Given the description of an element on the screen output the (x, y) to click on. 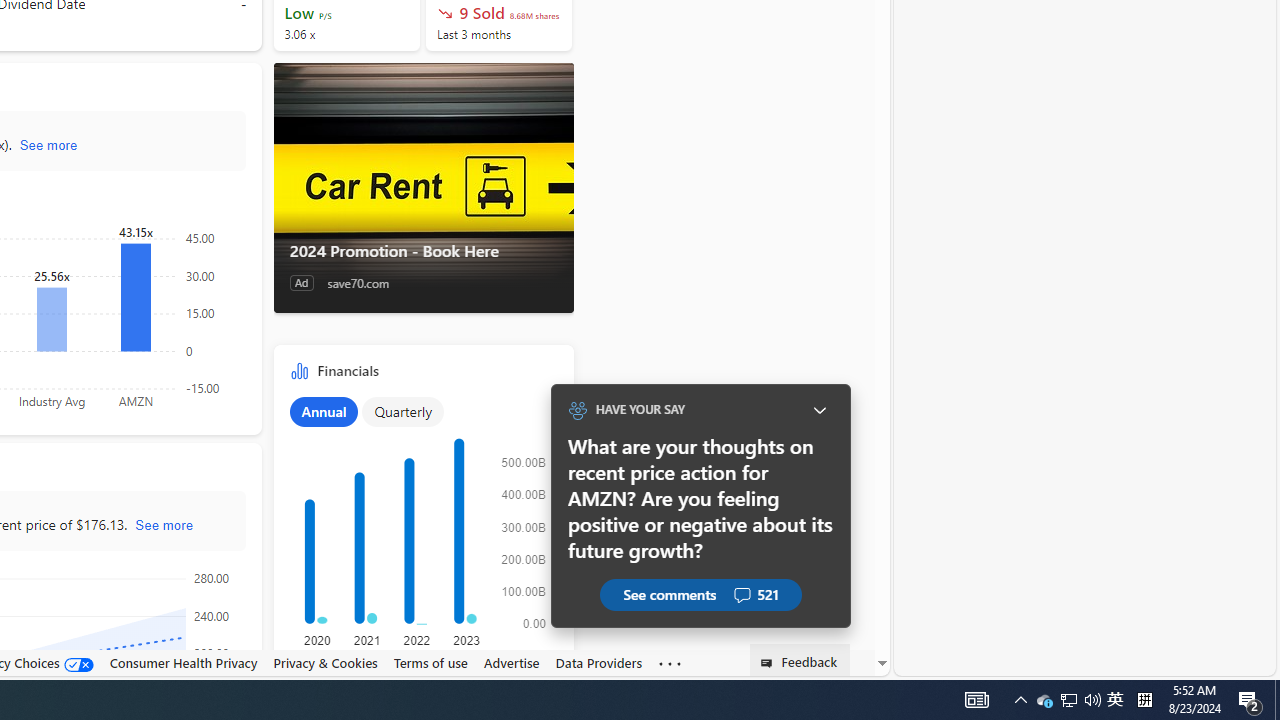
Class: chartSvg (419, 531)
2024 Promotion - Book Here (423, 250)
Annual (323, 411)
2024 Promotion - Book Here (422, 188)
Class: feedback_link_icon-DS-EntryPoint1-1 (770, 663)
Data Providers (598, 663)
